Given the description of an element on the screen output the (x, y) to click on. 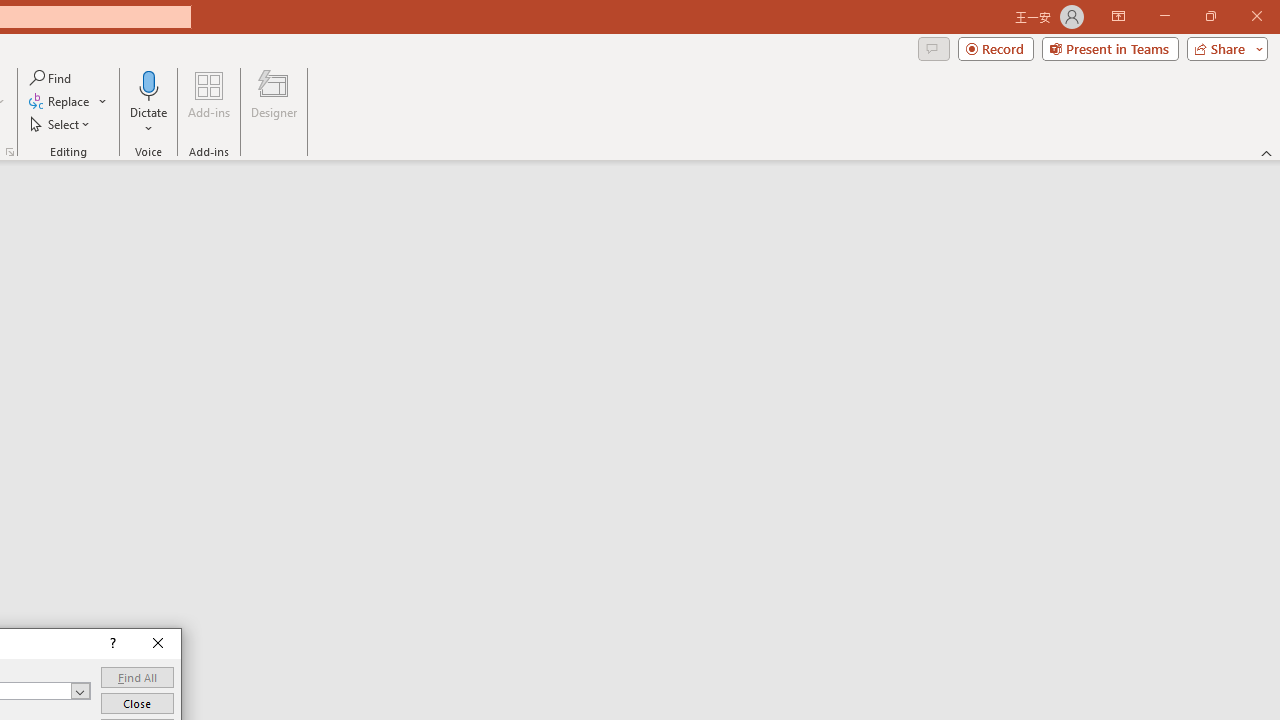
Find All (137, 677)
